Given the description of an element on the screen output the (x, y) to click on. 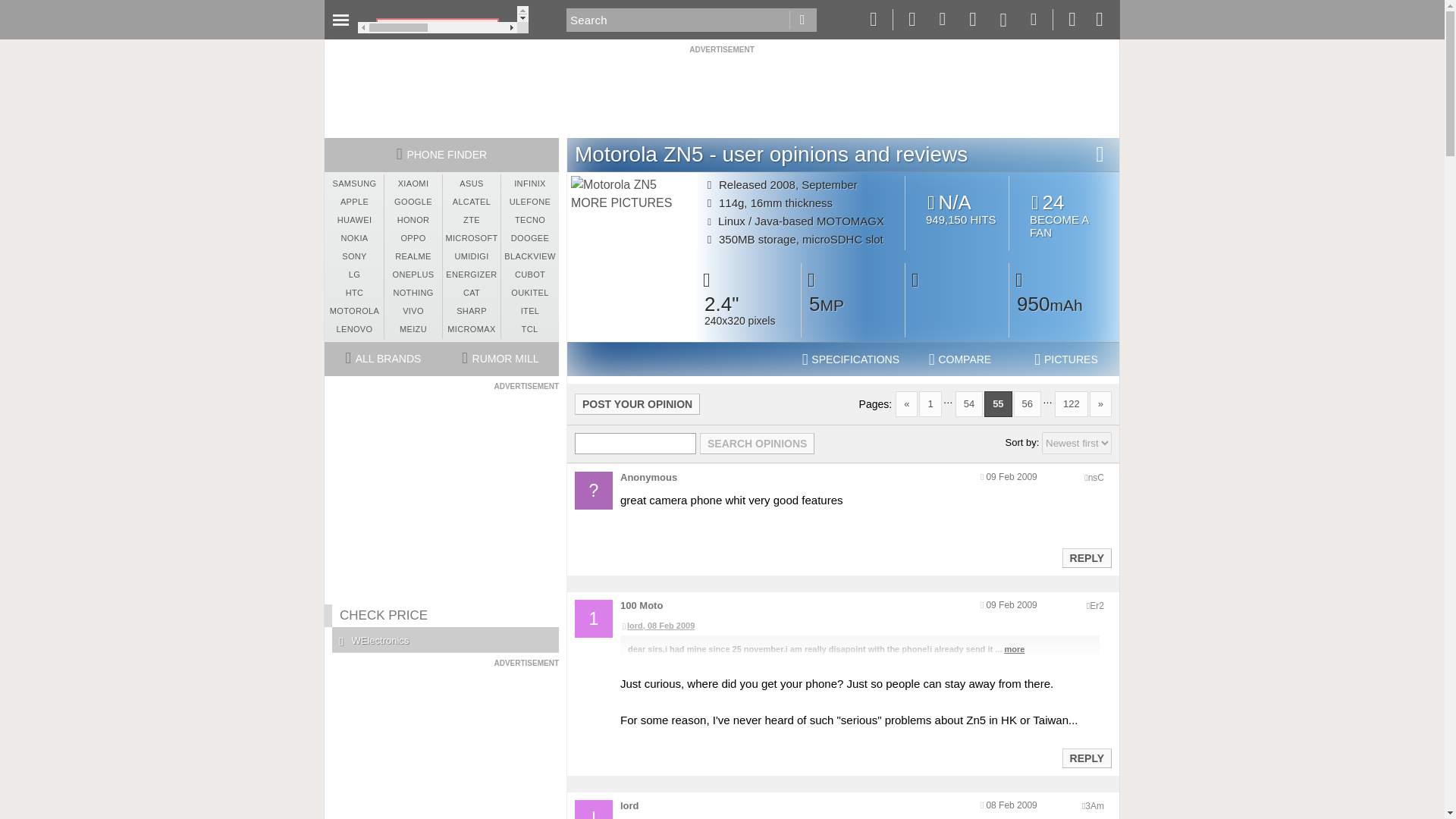
Search opinions (756, 443)
54 (968, 403)
POST YOUR OPINION (637, 403)
Go (802, 19)
Reply to this post (1086, 558)
PICTURES (1066, 359)
Encoded anonymized location (1093, 805)
Reply to this post (1086, 758)
Search opinions (1064, 214)
